Given the description of an element on the screen output the (x, y) to click on. 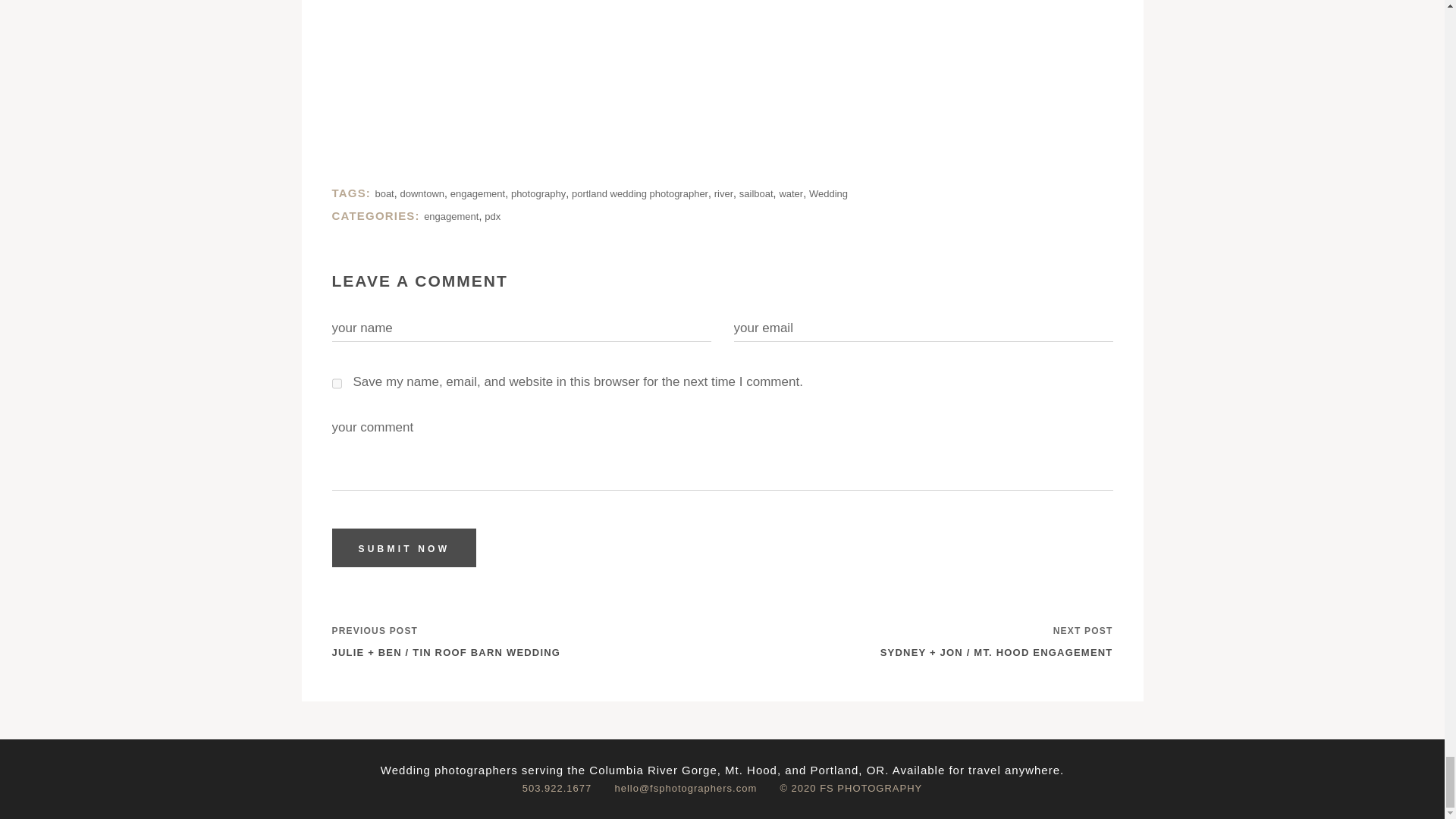
river (723, 193)
engagement (477, 193)
engagement (451, 215)
portland wedding photographer (639, 193)
503.922.1677 (566, 787)
boat (383, 193)
Submit Now (404, 547)
Submit Now (404, 547)
photography (538, 193)
water (790, 193)
pdx (492, 215)
downtown (422, 193)
sailboat (756, 193)
Wedding (828, 193)
